Given the description of an element on the screen output the (x, y) to click on. 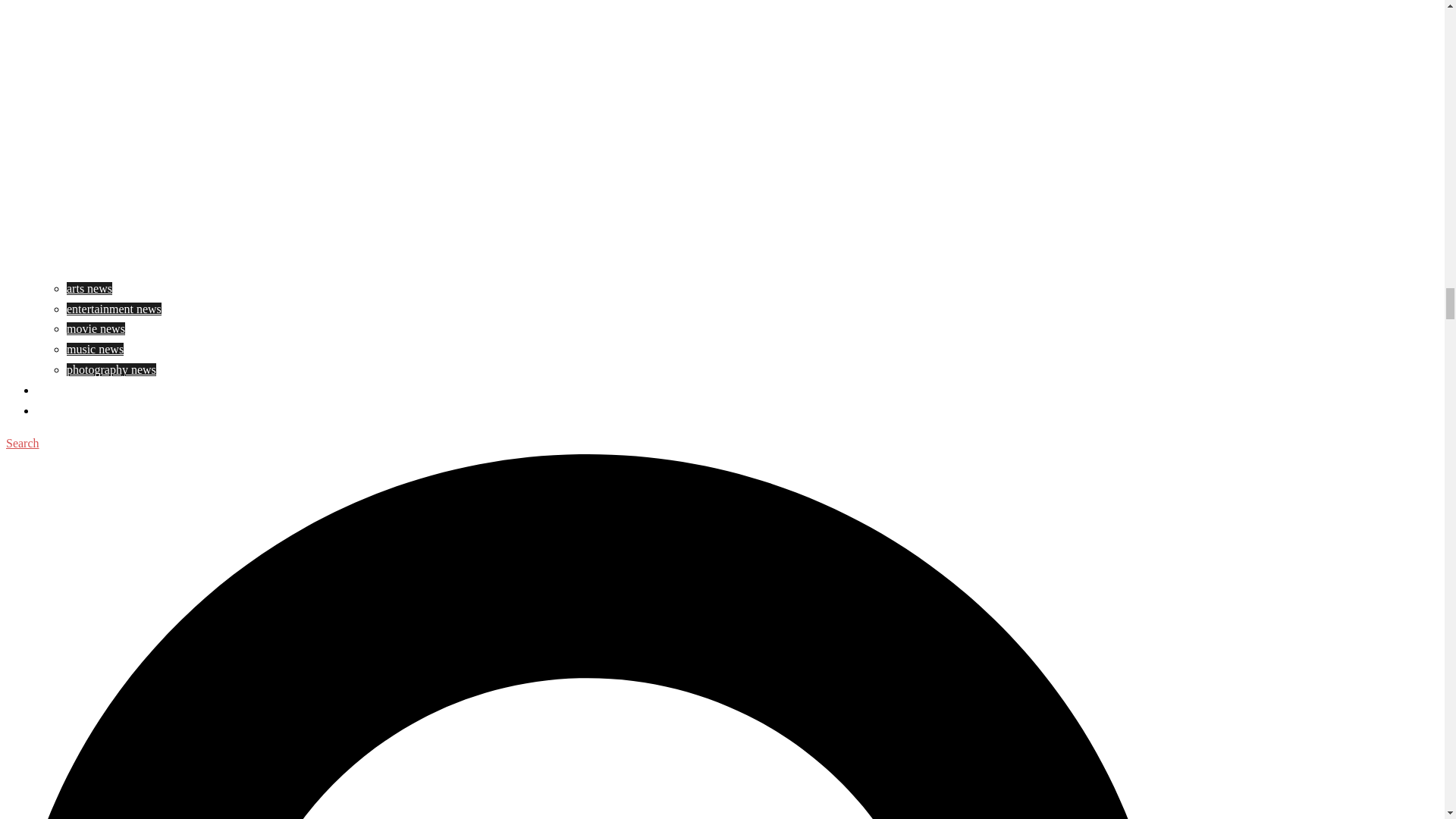
photography news (110, 369)
entertainment news (113, 308)
movie news (95, 328)
arts news (89, 287)
General Article (73, 390)
music news (94, 349)
Contact Us (63, 410)
